Given the description of an element on the screen output the (x, y) to click on. 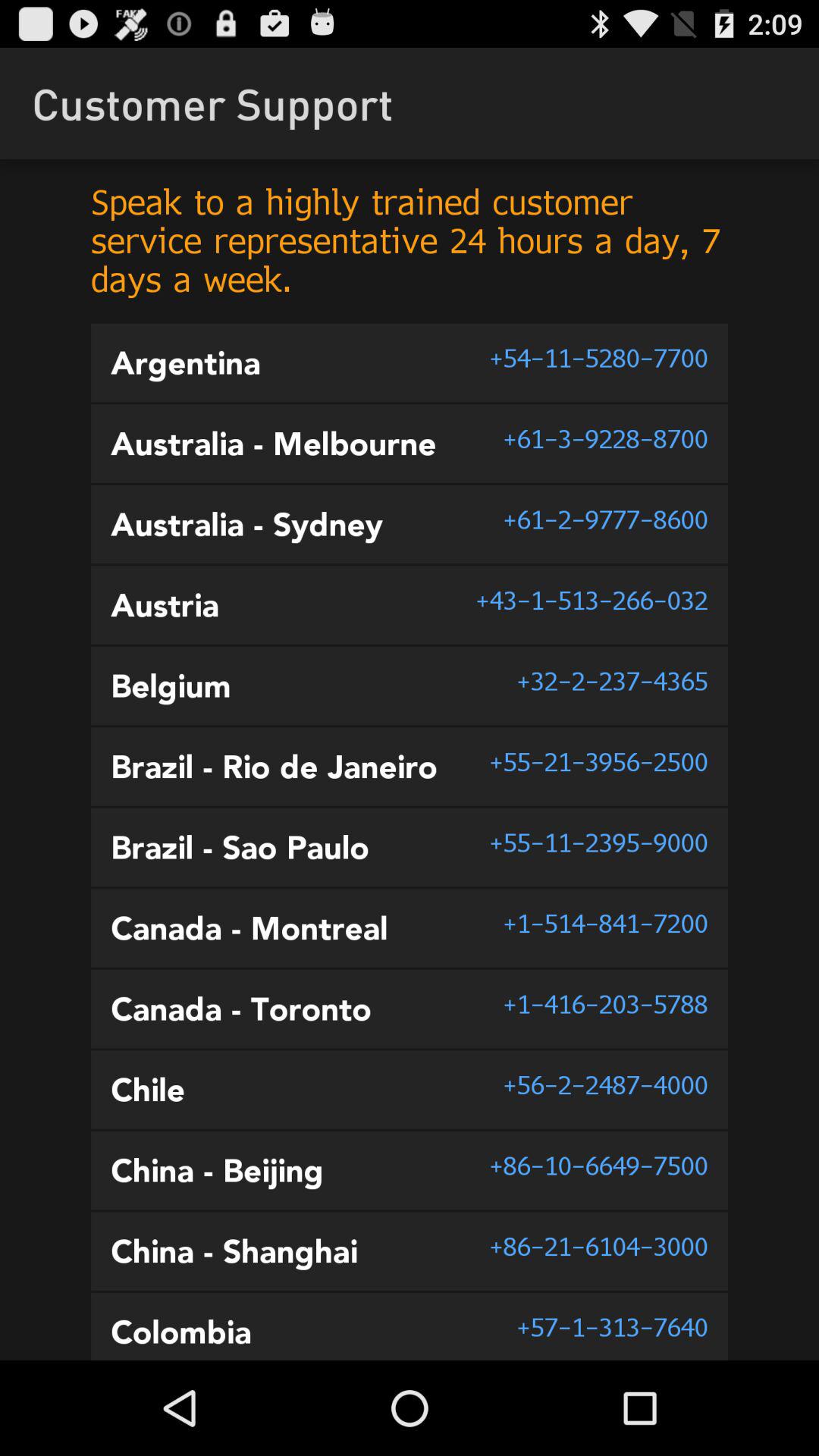
click the item below 1 416 203 icon (605, 1084)
